Given the description of an element on the screen output the (x, y) to click on. 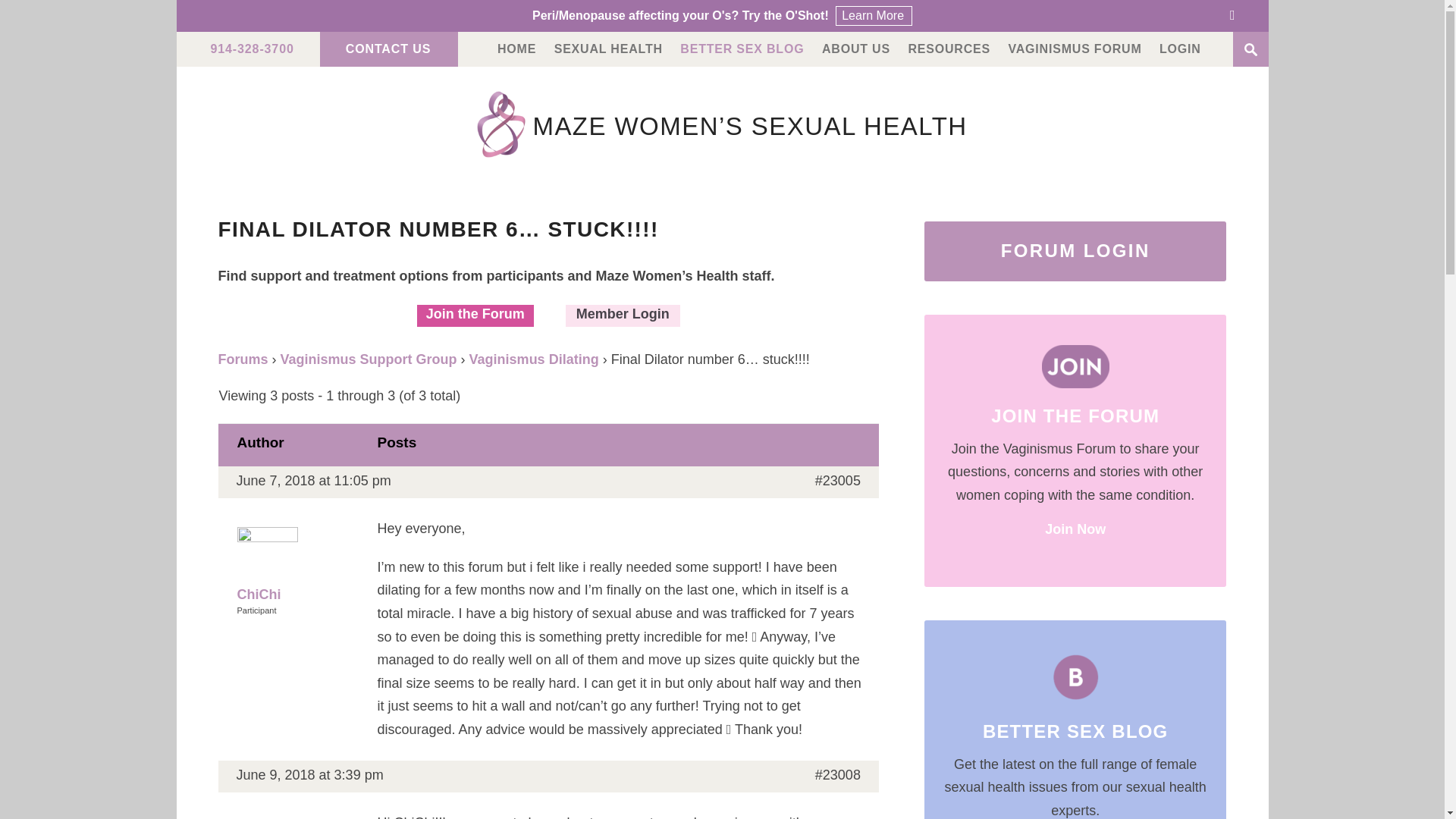
View ChiChi's profile (296, 566)
SEXUAL HEALTH (608, 49)
BETTER SEX BLOG (741, 49)
ABOUT US (855, 49)
HOME (516, 49)
CONTACT US (388, 49)
RESOURCES (948, 49)
914-328-3700 (252, 49)
